Given the description of an element on the screen output the (x, y) to click on. 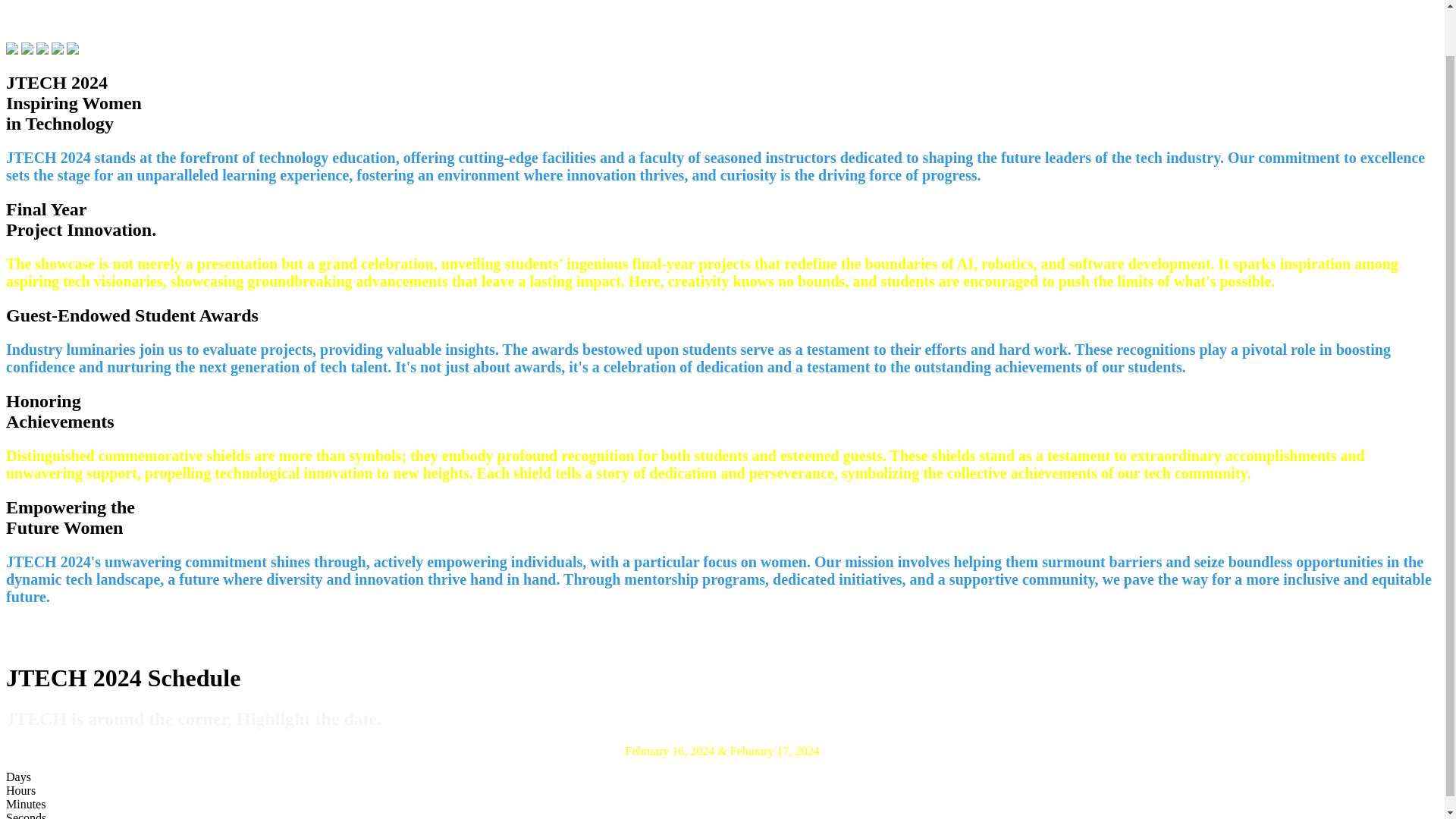
Contact (1310, 2)
Gallery (1188, 2)
About Us (1123, 2)
Event Schedule (929, 2)
Home (783, 2)
Our Team (844, 2)
Projects (1249, 2)
